Given the description of an element on the screen output the (x, y) to click on. 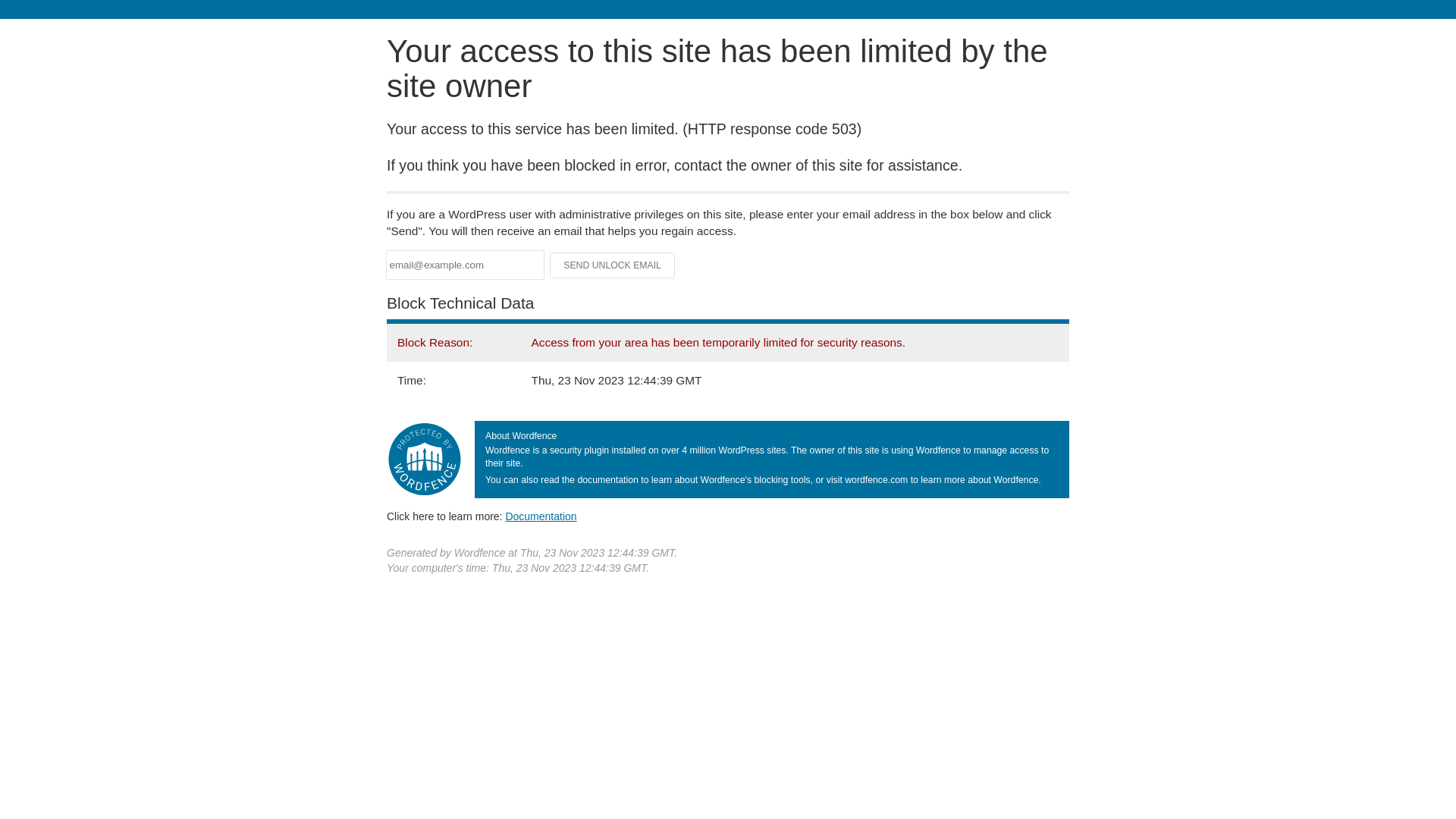
Send Unlock Email Element type: text (612, 265)
Documentation Element type: text (540, 516)
